Given the description of an element on the screen output the (x, y) to click on. 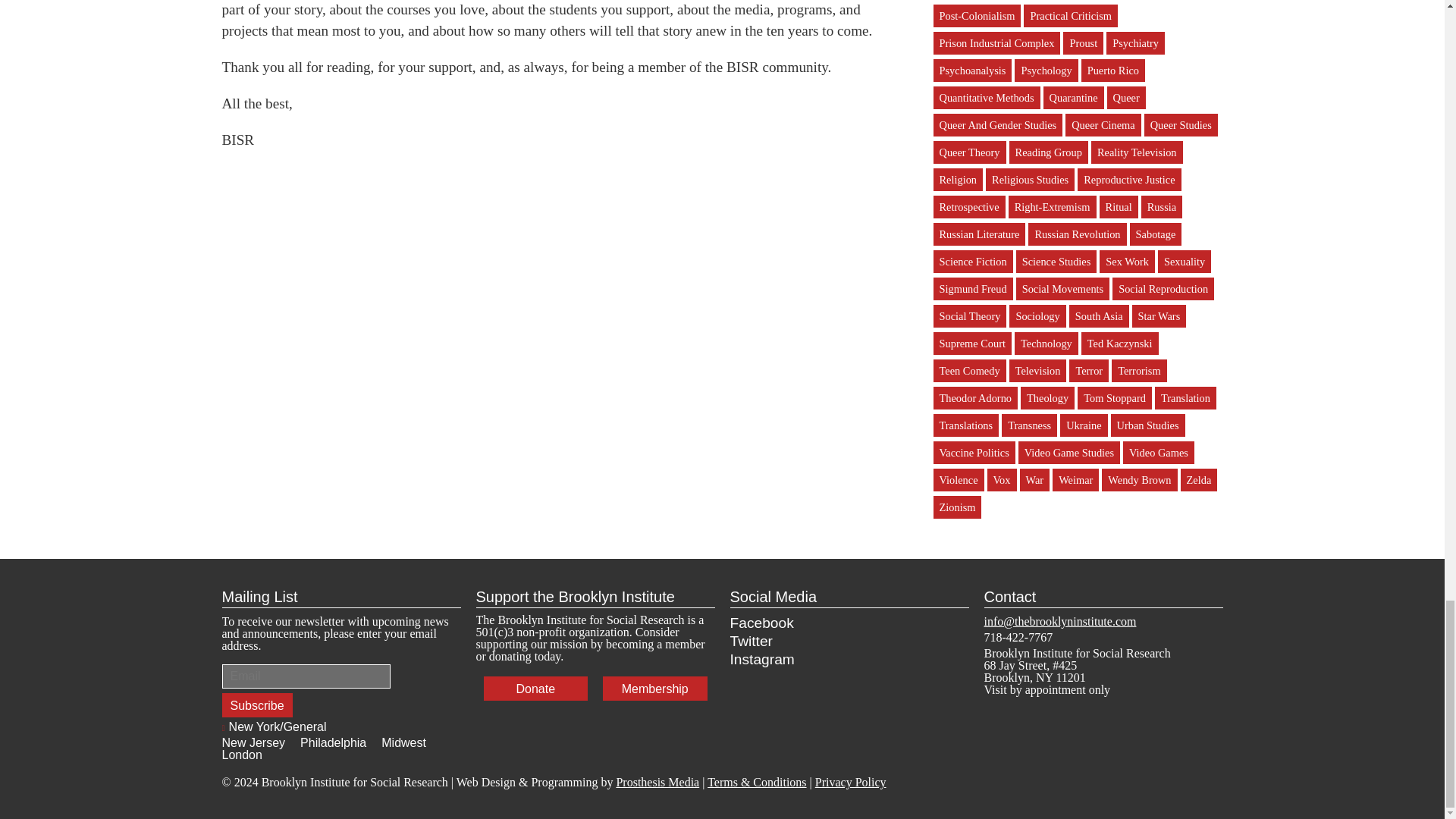
Subscribe (256, 704)
